Given the description of an element on the screen output the (x, y) to click on. 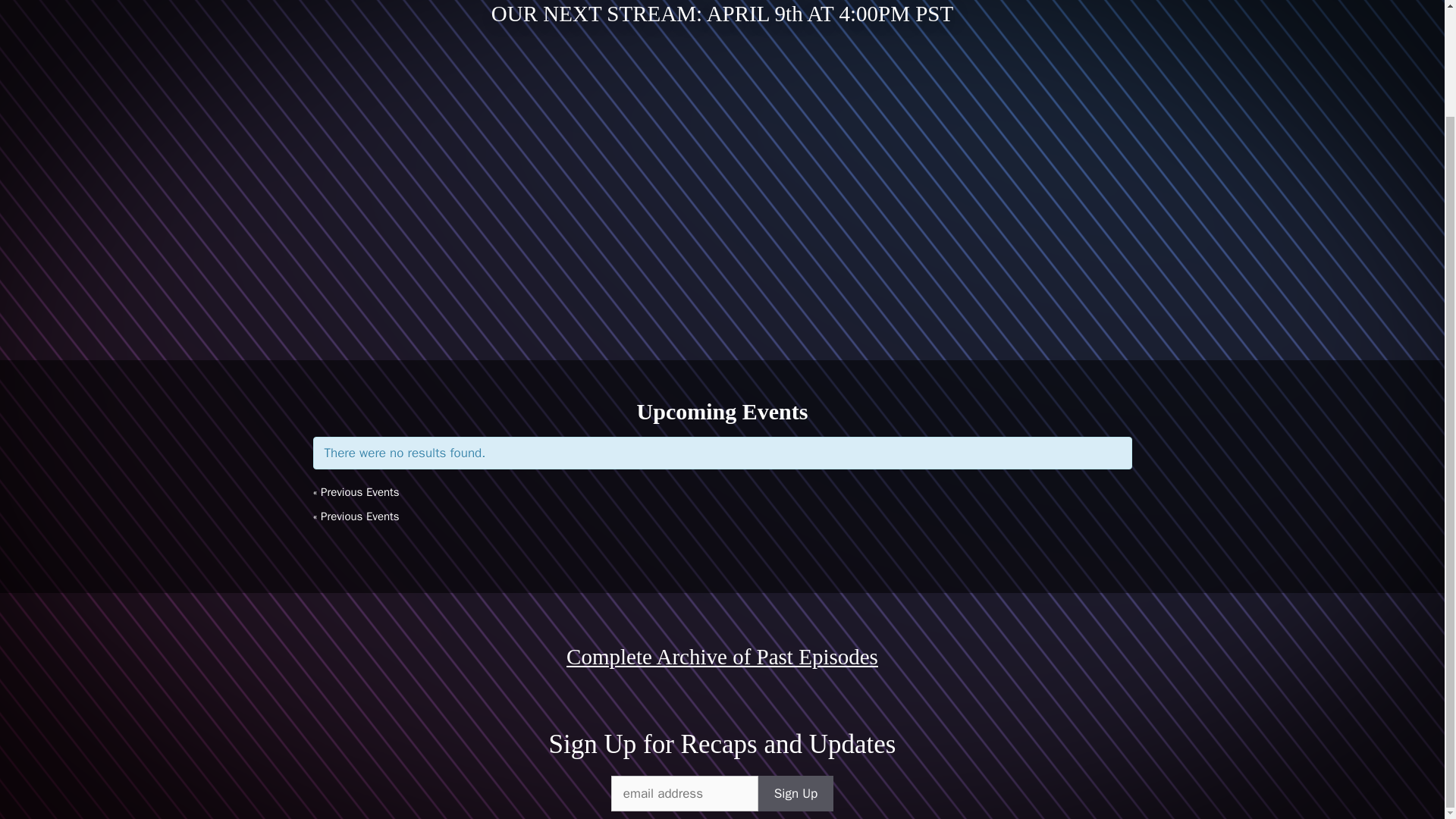
Complete Archive of Past Episodes (721, 655)
Sign Up (795, 793)
